Given the description of an element on the screen output the (x, y) to click on. 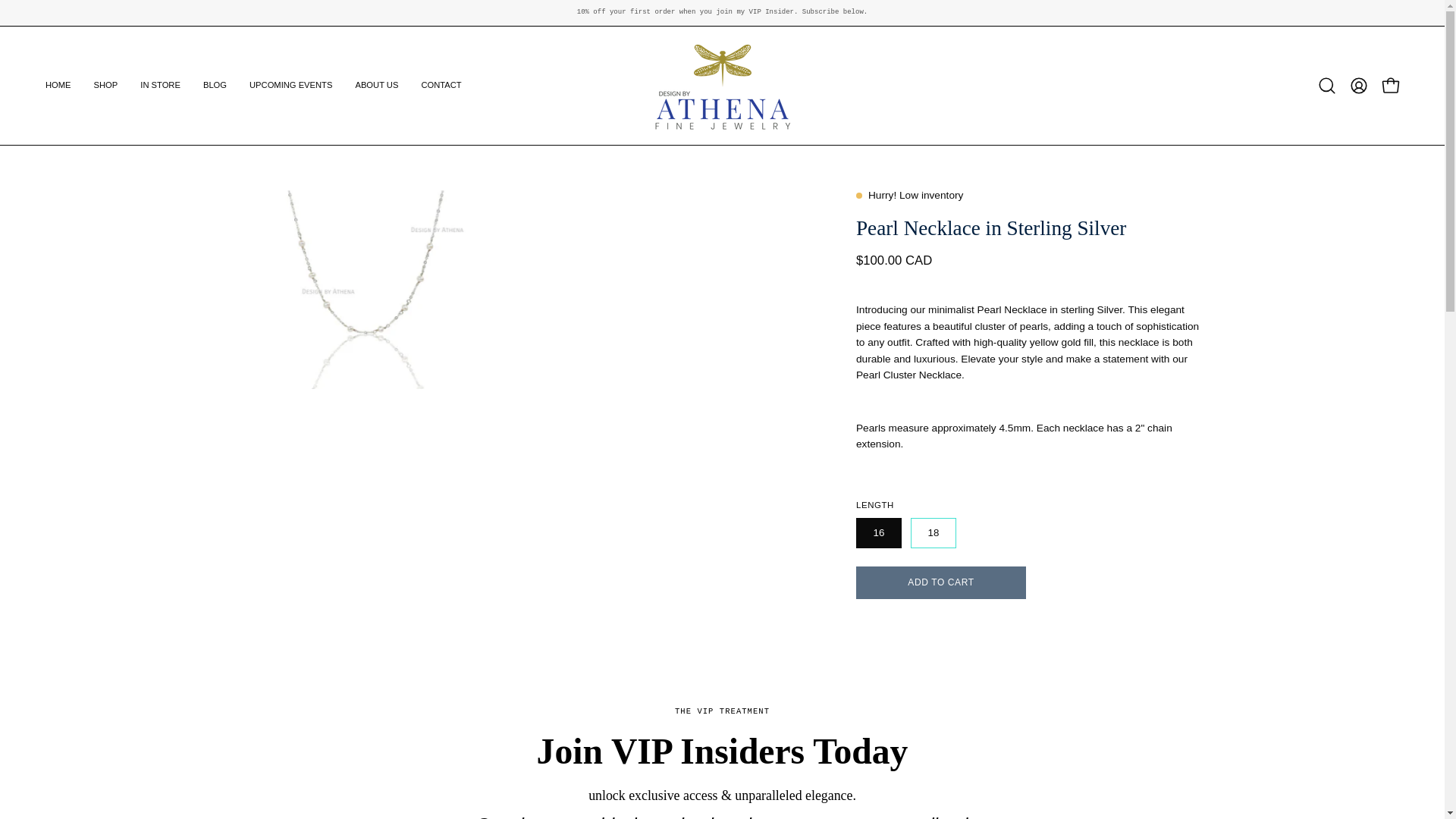
UPCOMING EVENTS (290, 84)
Open search bar (1326, 85)
